Given the description of an element on the screen output the (x, y) to click on. 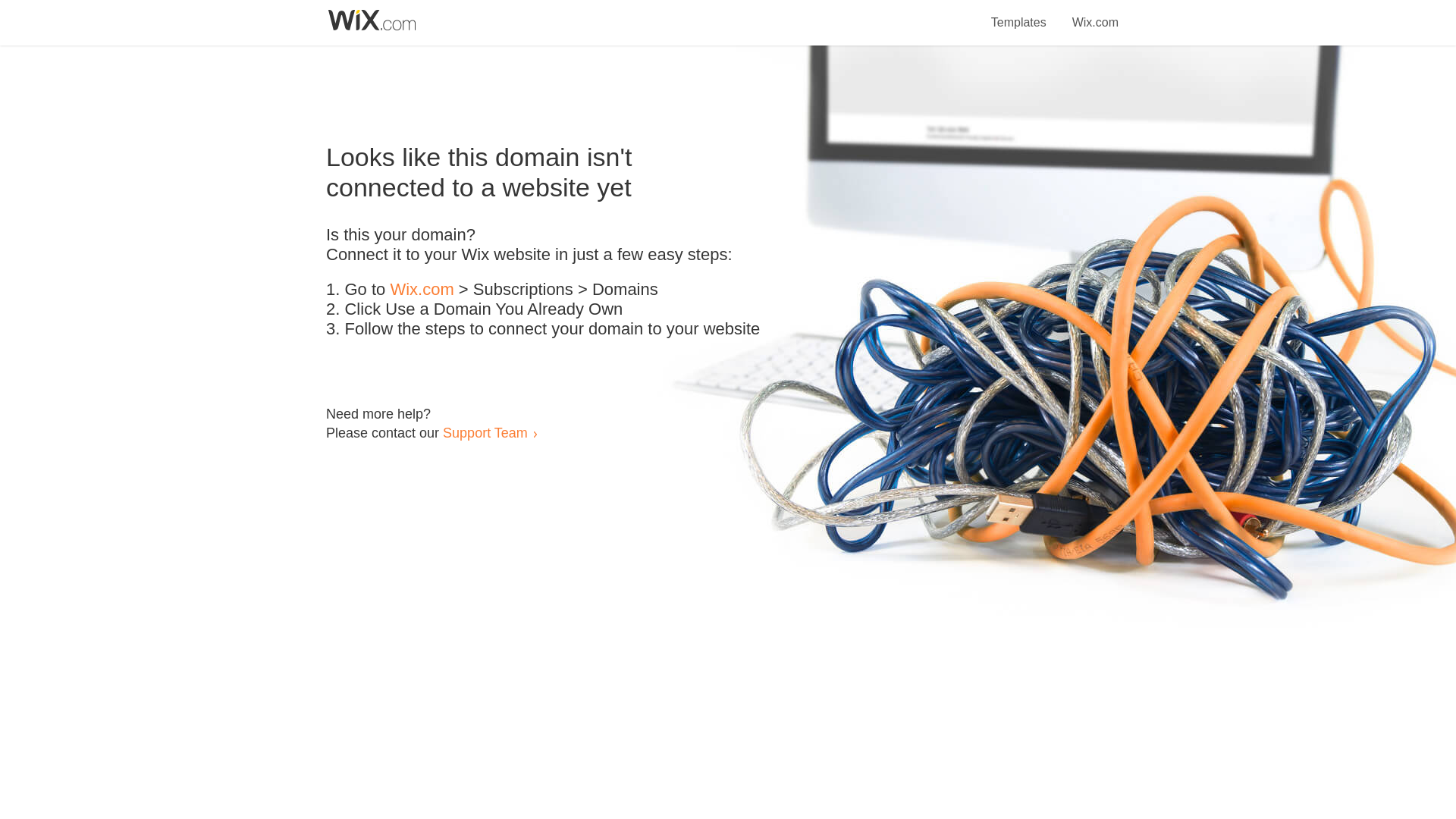
Wix.com (1095, 14)
Templates (1018, 14)
Support Team (484, 432)
Wix.com (421, 289)
